Given the description of an element on the screen output the (x, y) to click on. 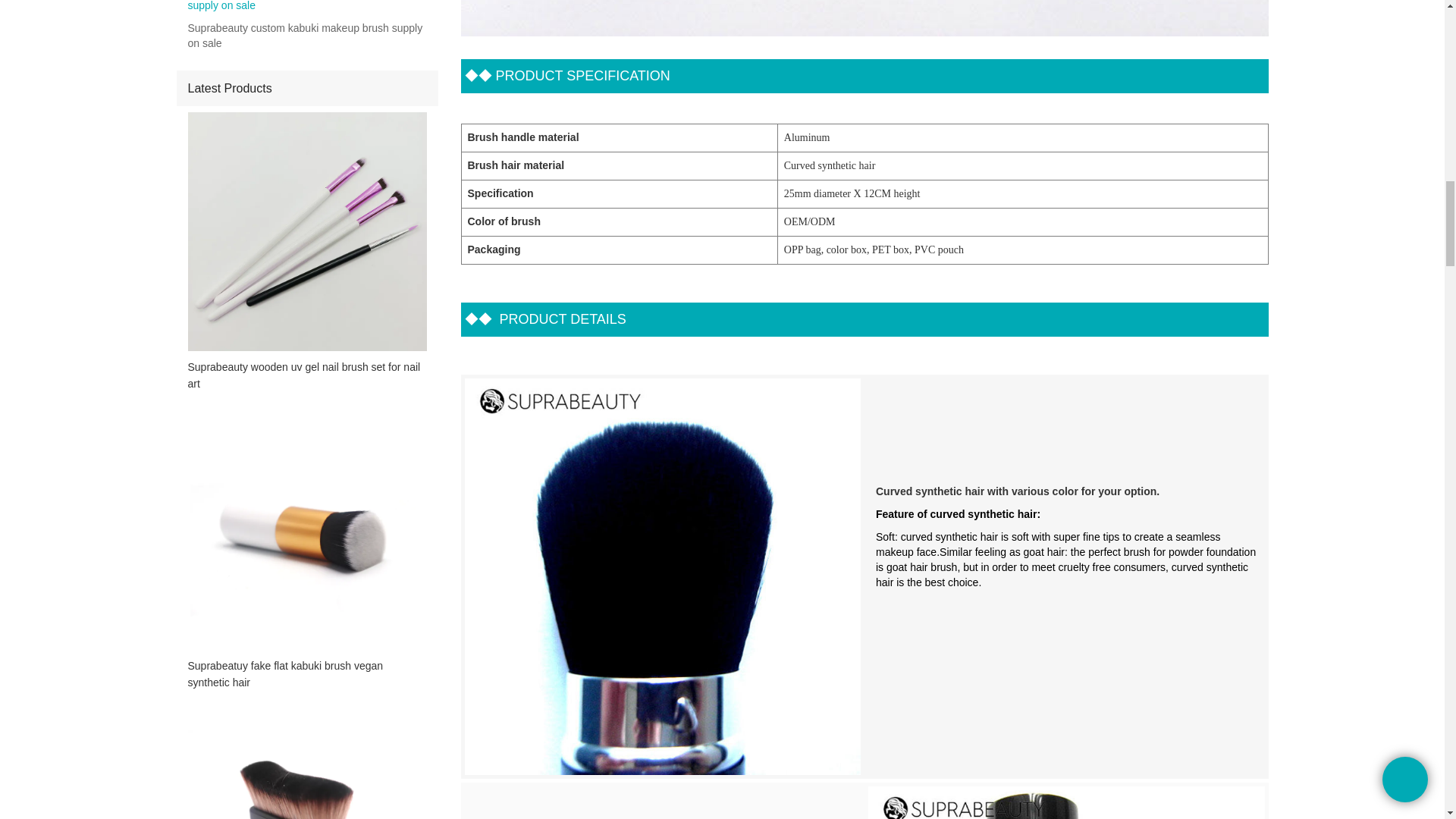
Suprabeauty custom kabuki makeup brush supply on sale (306, 36)
Suprabeauty wooden uv gel nail brush set for nail art (306, 375)
Suprabeatuy fake flat kabuki brush vegan synthetic hair (306, 674)
